Given the description of an element on the screen output the (x, y) to click on. 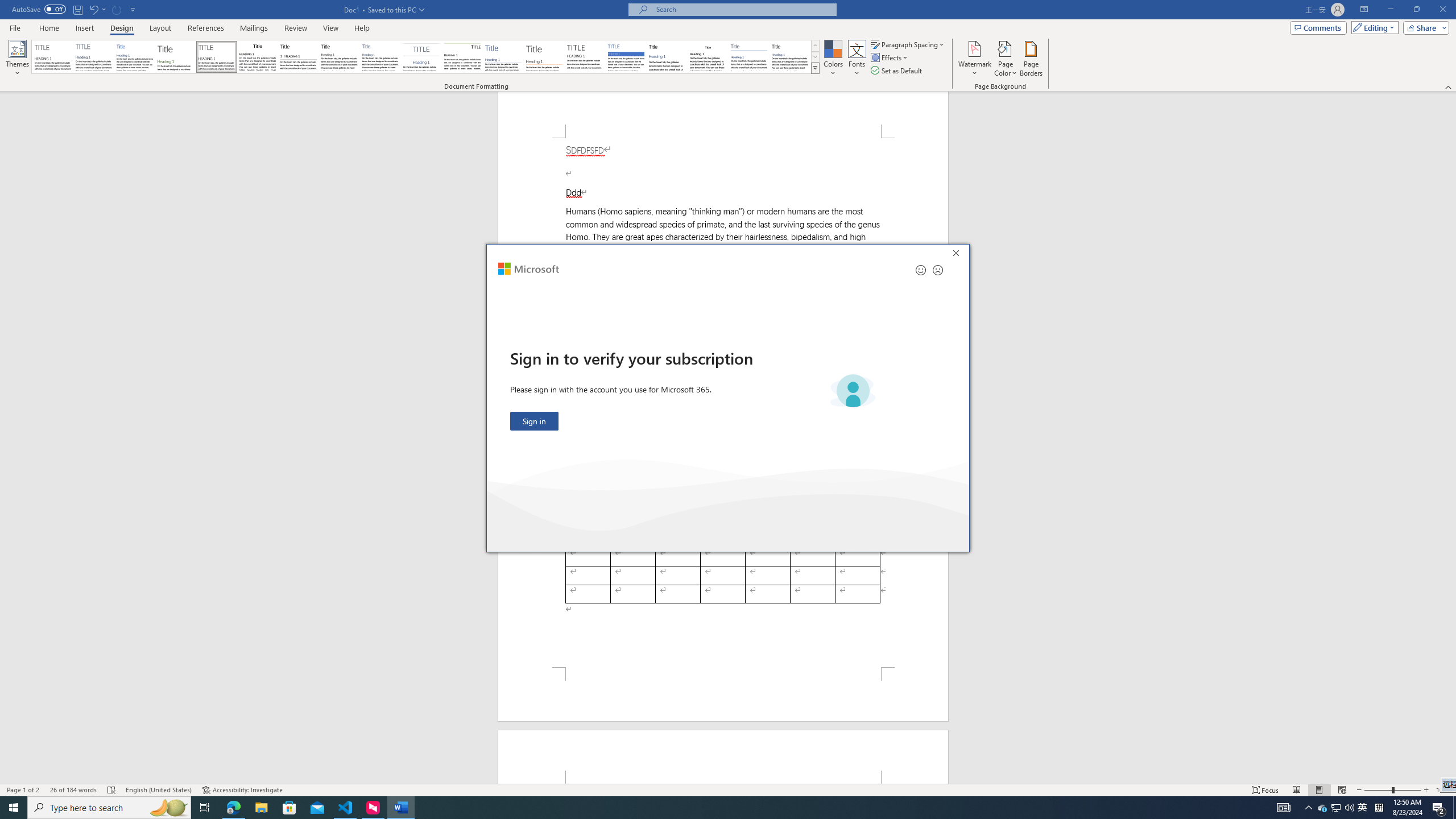
Word 2003 (707, 56)
Undo Apply Quick Style Set (92, 9)
Paragraph Spacing (908, 44)
Casual (379, 56)
Basic (Elegant) (93, 56)
Lines (Distinctive) (462, 56)
Black & White (Word 2013) (338, 56)
Undo Apply Quick Style Set (96, 9)
Basic (Simple) (135, 56)
